Given the description of an element on the screen output the (x, y) to click on. 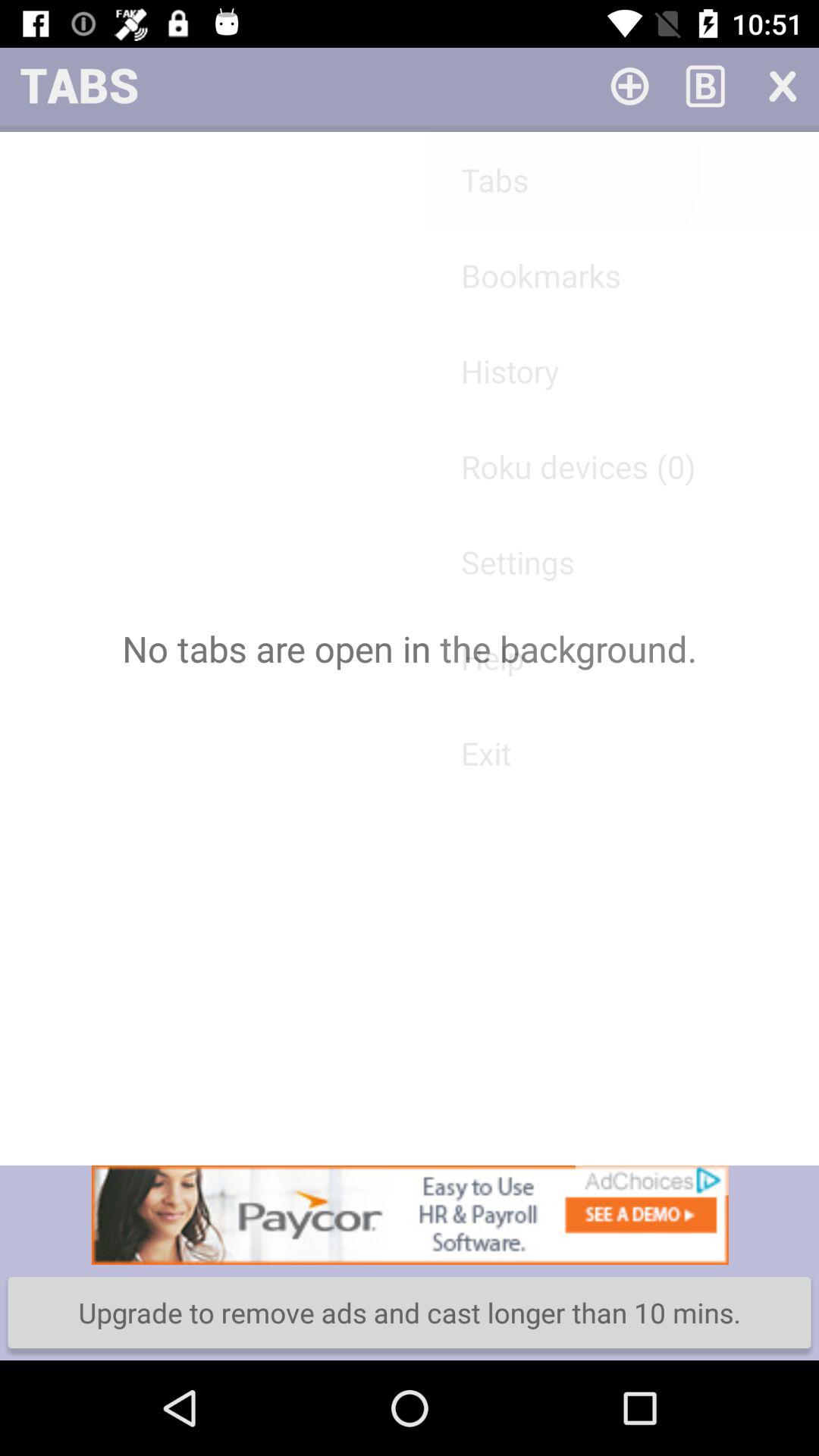
see an image (409, 1214)
